Given the description of an element on the screen output the (x, y) to click on. 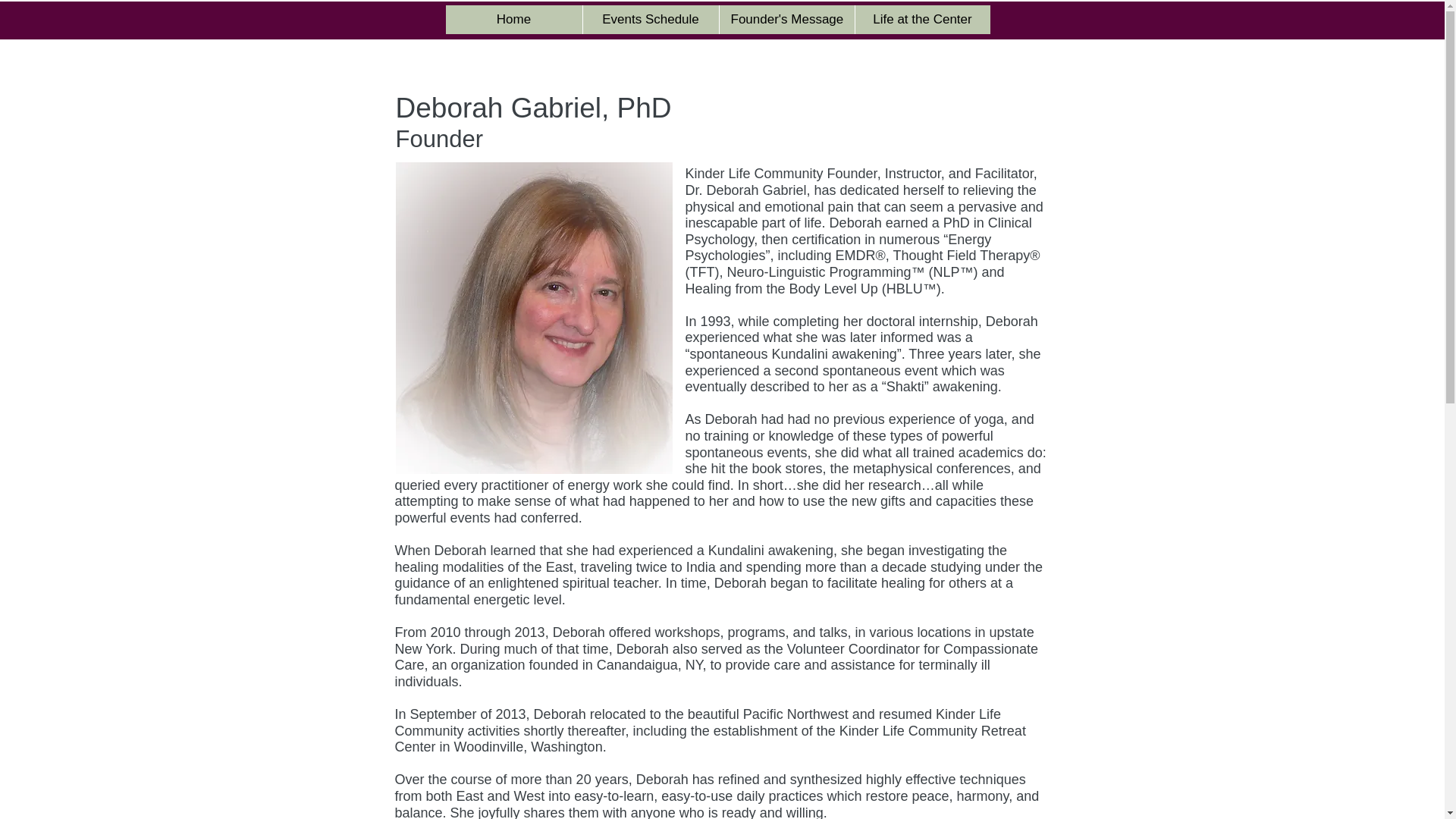
Events Schedule (650, 19)
Life at the Center (921, 19)
Founder's Message (786, 19)
Home (513, 19)
